Given the description of an element on the screen output the (x, y) to click on. 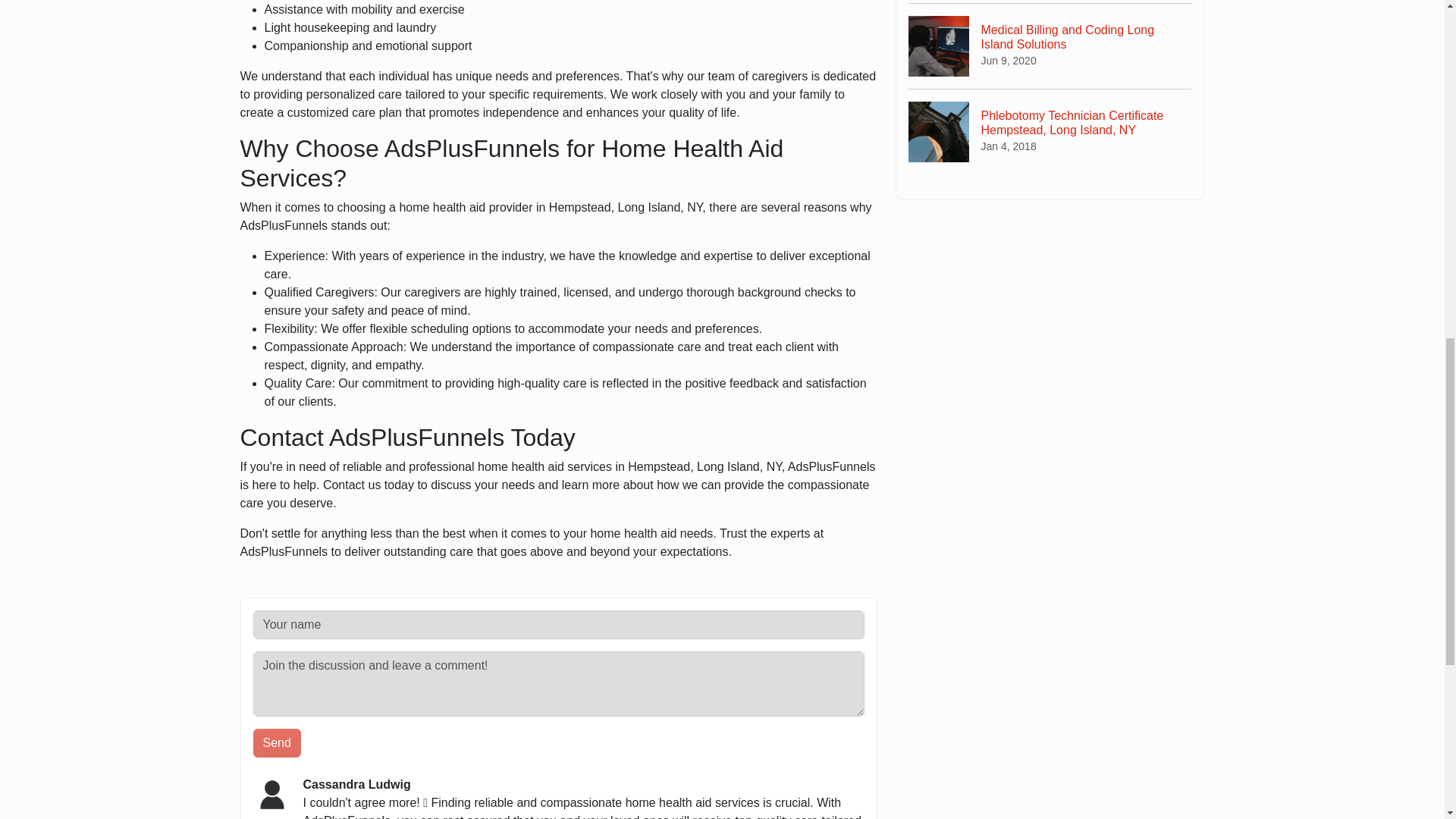
Send (277, 742)
Send (277, 742)
